Given the description of an element on the screen output the (x, y) to click on. 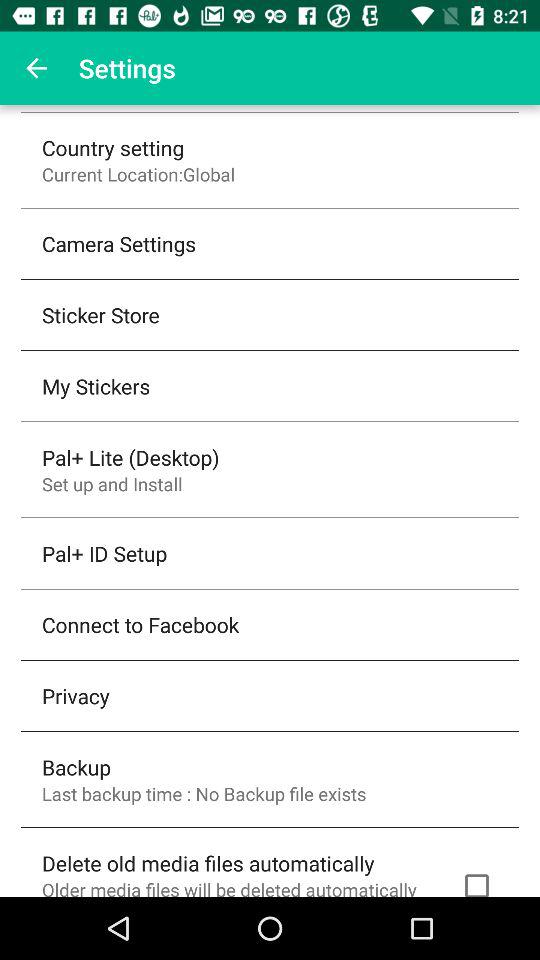
tap icon above the older media files (208, 862)
